Given the description of an element on the screen output the (x, y) to click on. 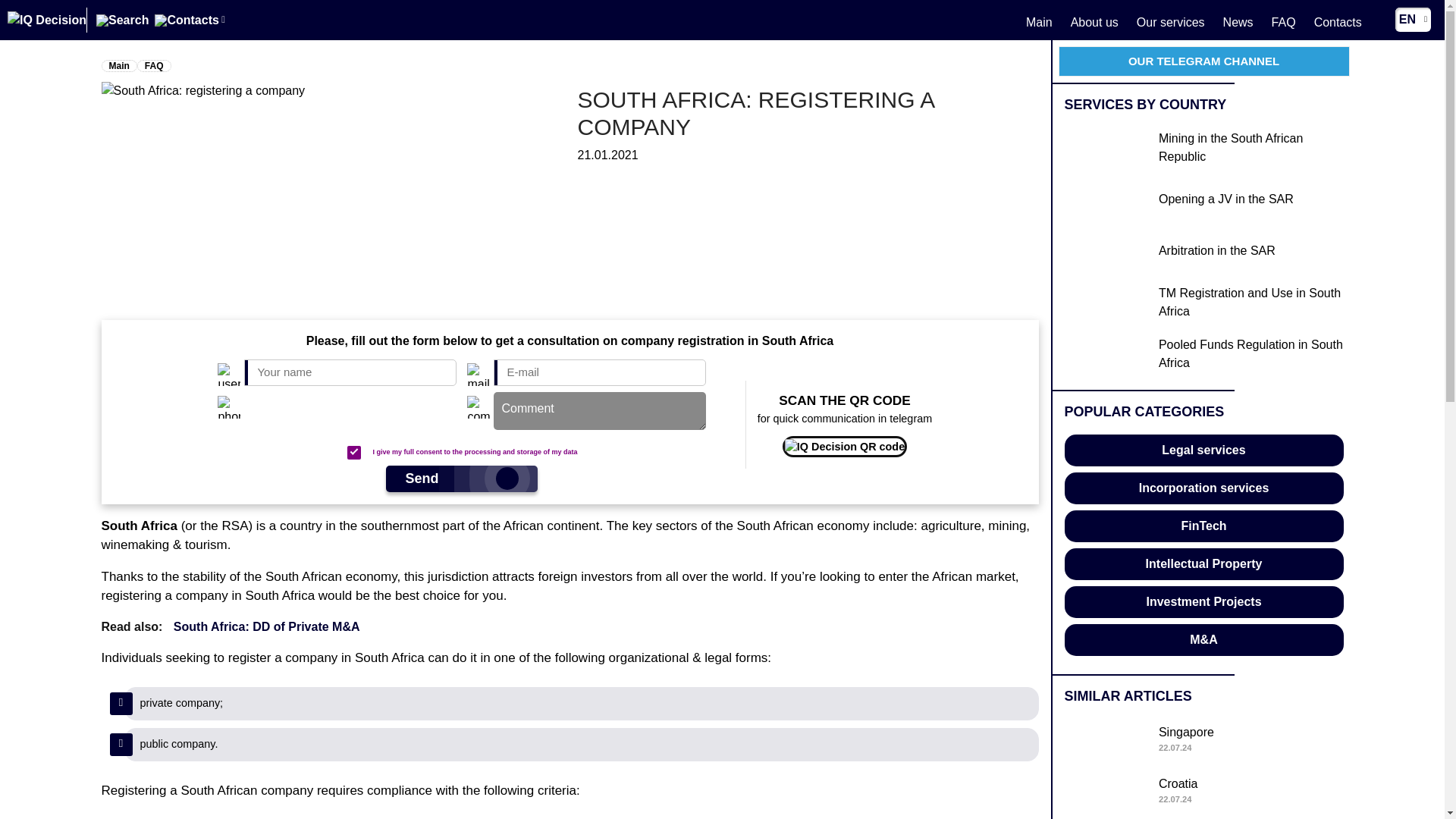
News (1238, 21)
TM Registration and Use in South Africa (1203, 303)
Contacts (1337, 21)
FinTech (1203, 526)
Pooled Funds Regulation in South Africa (1203, 355)
Main (1039, 21)
Legal services (1203, 450)
FAQ (1203, 740)
Investment Projects (153, 65)
About us (1203, 602)
Mining in the South African Republic (1203, 792)
OUR TELEGRAM CHANNEL (1094, 21)
Intellectual Property (1203, 149)
